Given the description of an element on the screen output the (x, y) to click on. 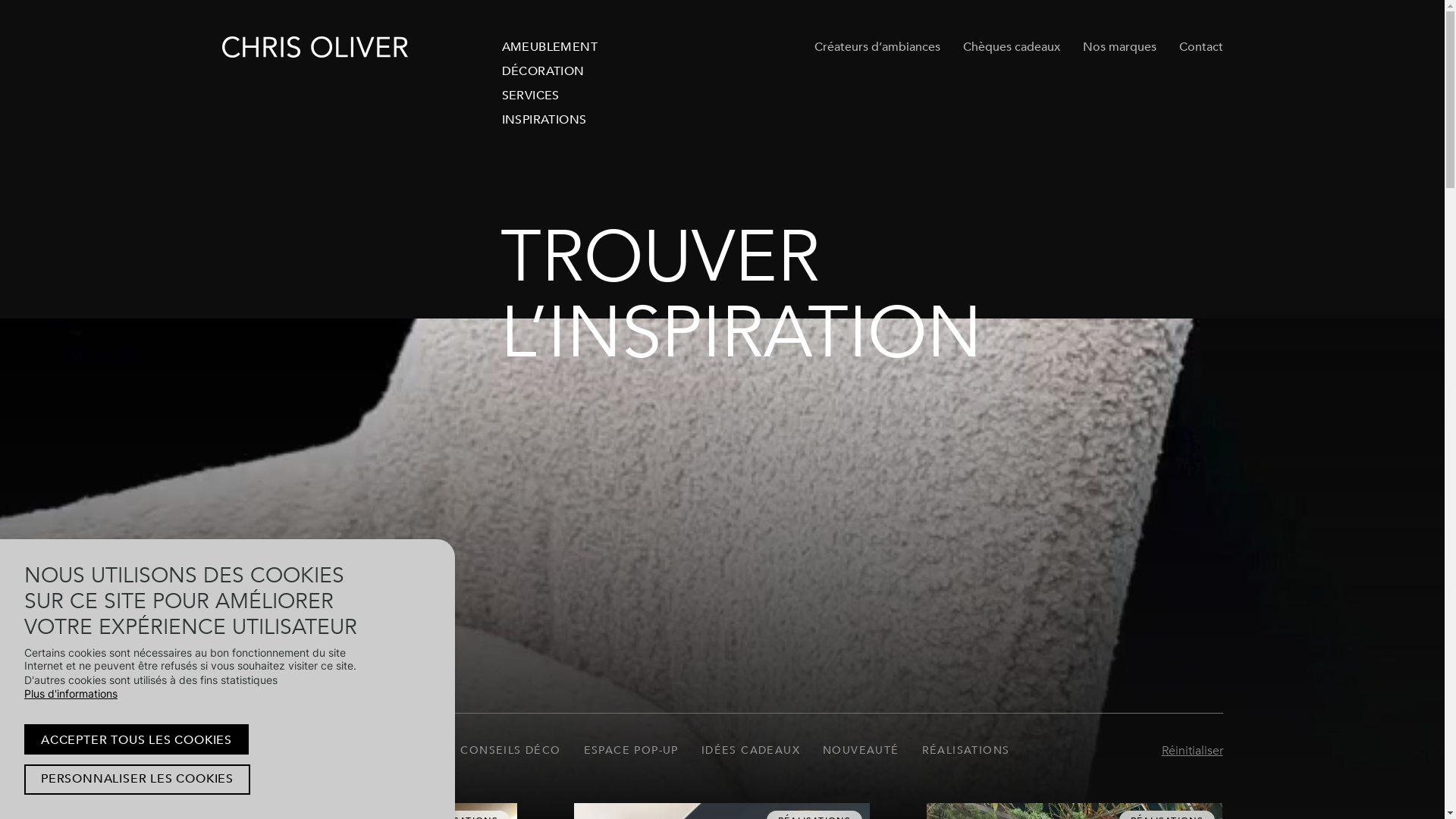
Contact Element type: text (1200, 46)
PERSONNALISER LES COOKIES Element type: text (137, 779)
Plus d'informations Element type: text (70, 693)
INSPIRATIONS Element type: text (556, 119)
Nos marques Element type: text (1119, 46)
SERVICES Element type: text (556, 95)
RETIRER LE CONSENTEMENT Element type: text (18, 719)
ESPACE POP-UP Element type: text (630, 750)
ACCEPTER TOUS LES COOKIES Element type: text (136, 739)
Chris Oliver Element type: hover (314, 46)
AMEUBLEMENT Element type: text (556, 46)
